Given the description of an element on the screen output the (x, y) to click on. 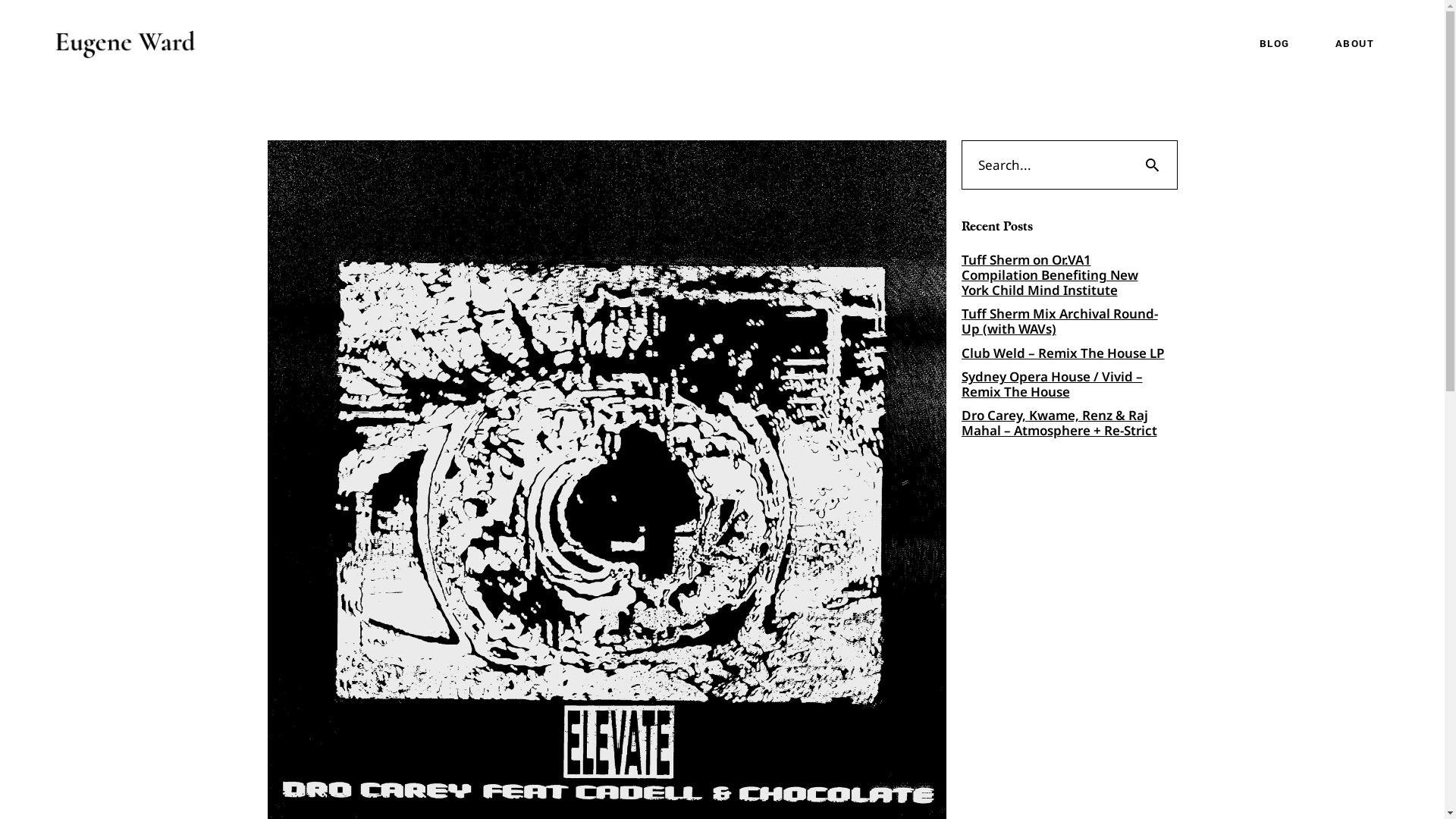
Tuff Sherm Mix Archival Round-Up (with WAVs) Element type: text (1069, 321)
BLOG Element type: text (1273, 43)
Search for: Element type: hover (1043, 164)
ABOUT Element type: text (1353, 43)
